Given the description of an element on the screen output the (x, y) to click on. 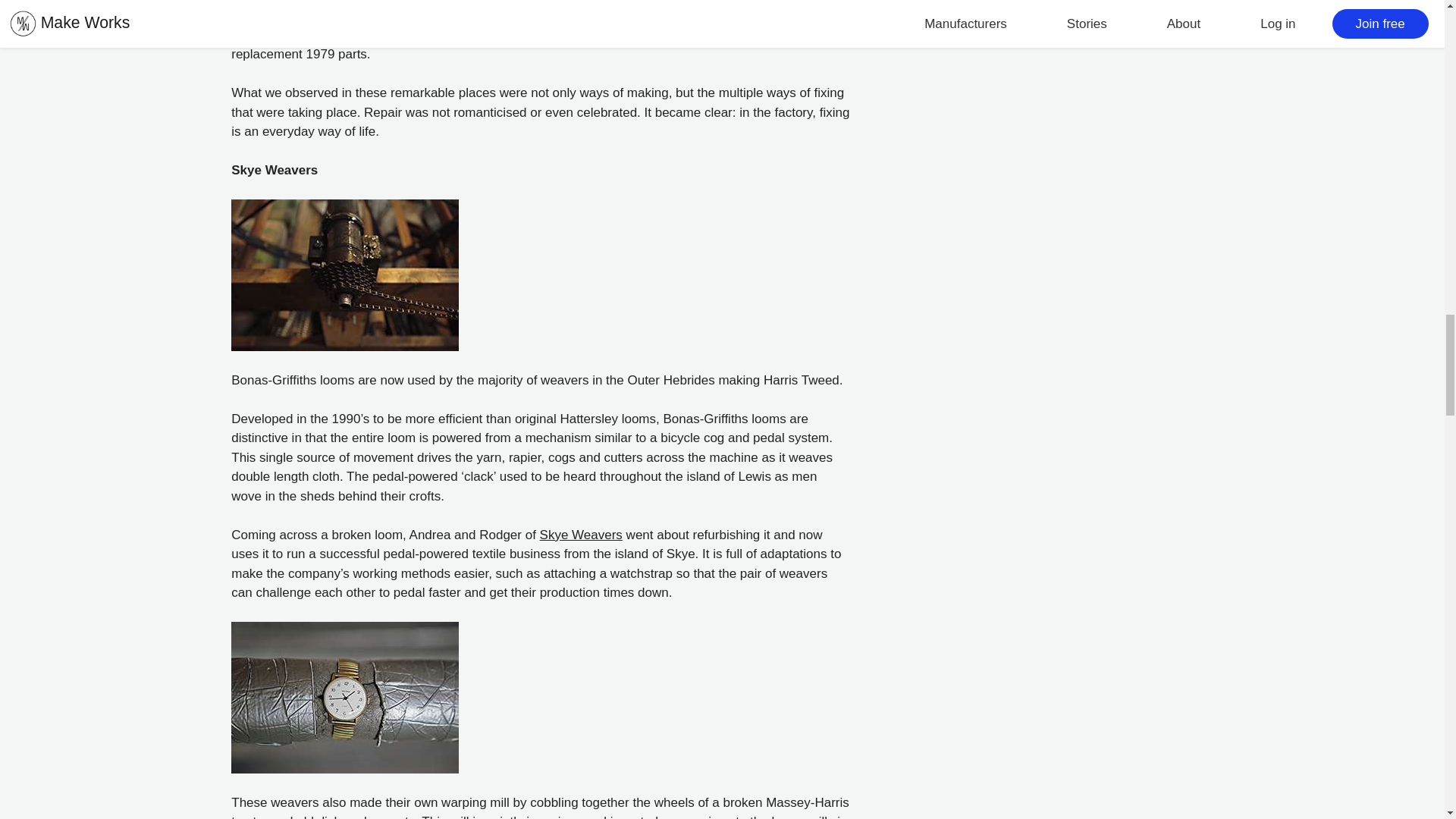
Skye Weavers (581, 534)
